Given the description of an element on the screen output the (x, y) to click on. 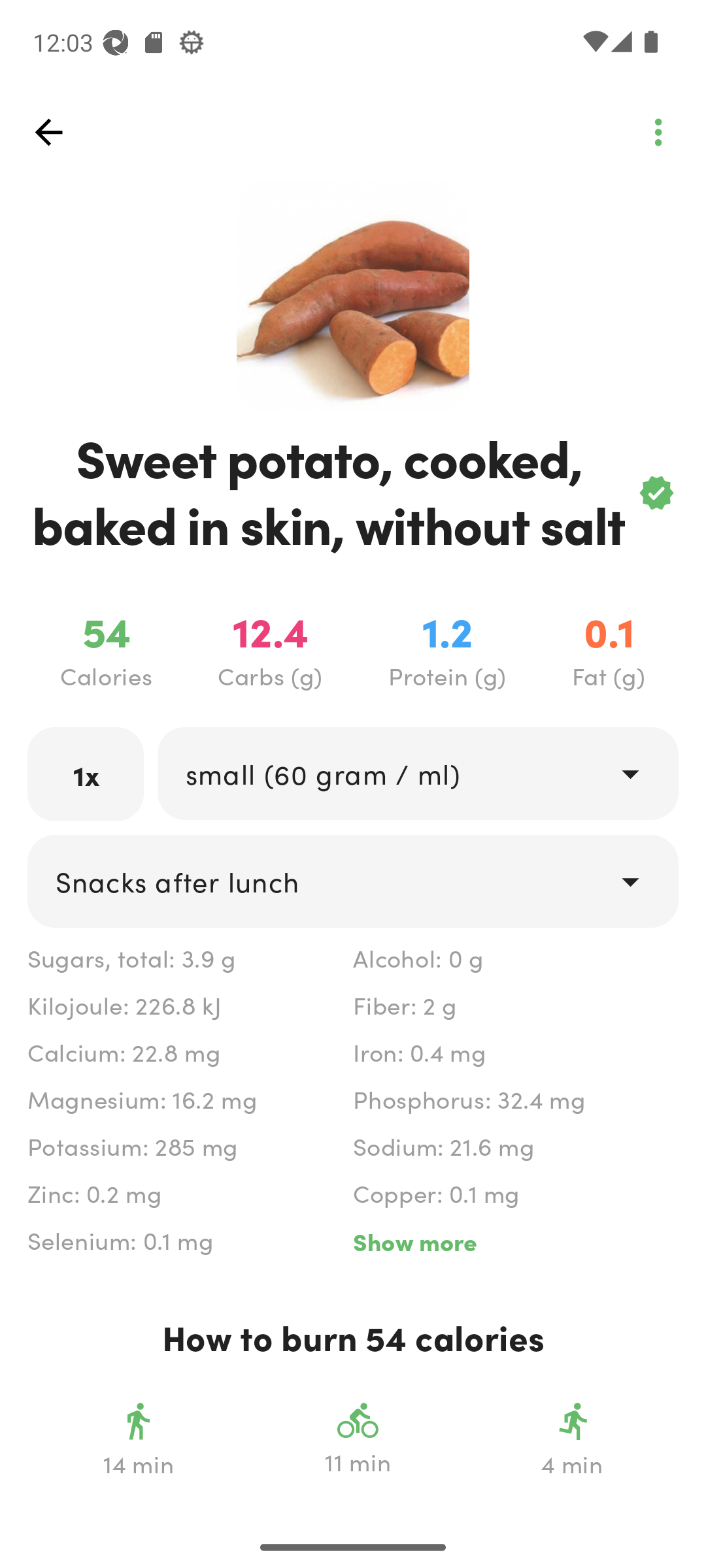
top_left_action (48, 132)
top_left_action (658, 132)
1x labeled_edit_text (85, 774)
drop_down small (60 gram / ml) (417, 773)
drop_down Snacks after lunch (352, 881)
Show more (515, 1240)
